Given the description of an element on the screen output the (x, y) to click on. 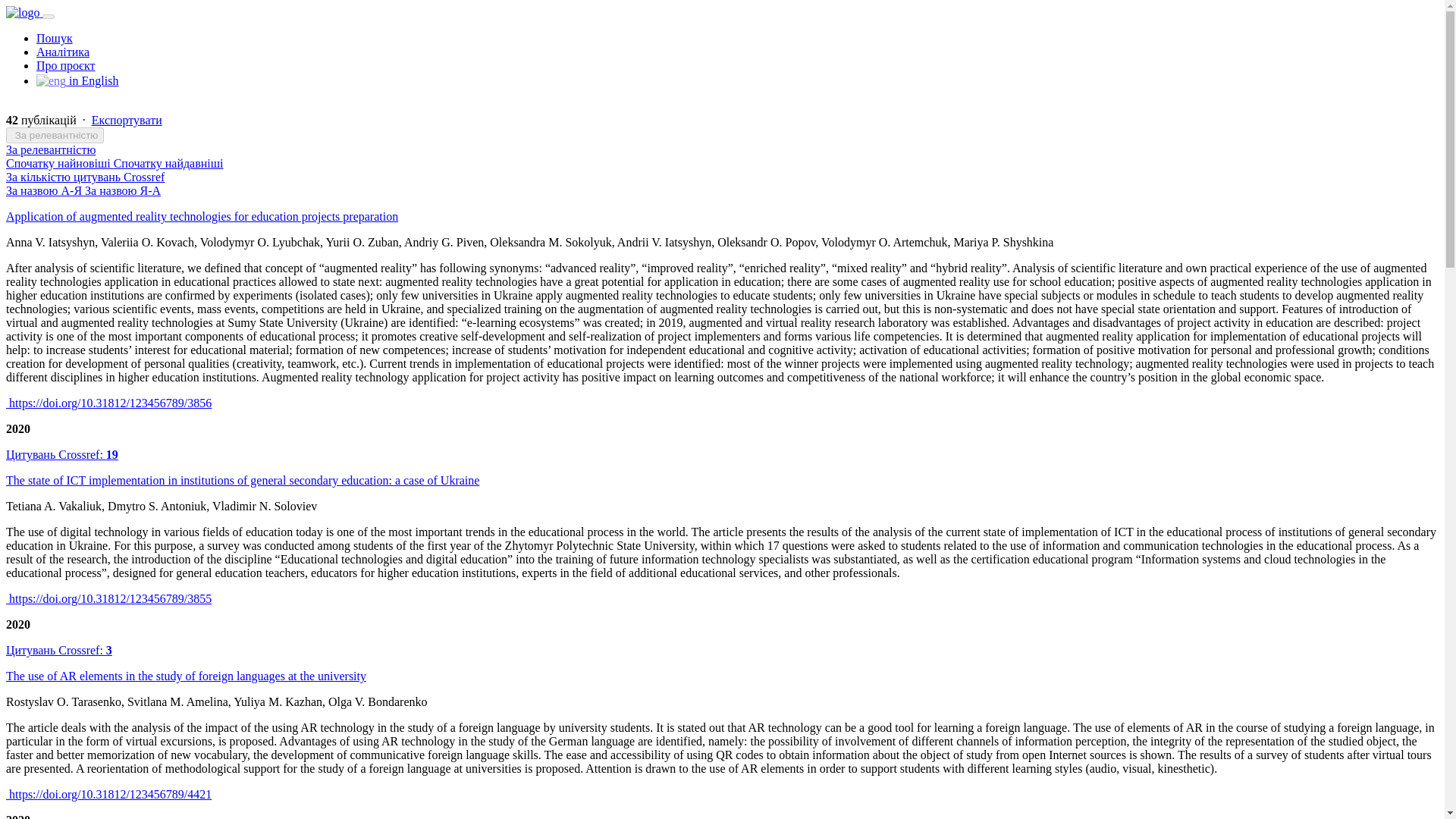
in English (76, 80)
